Given the description of an element on the screen output the (x, y) to click on. 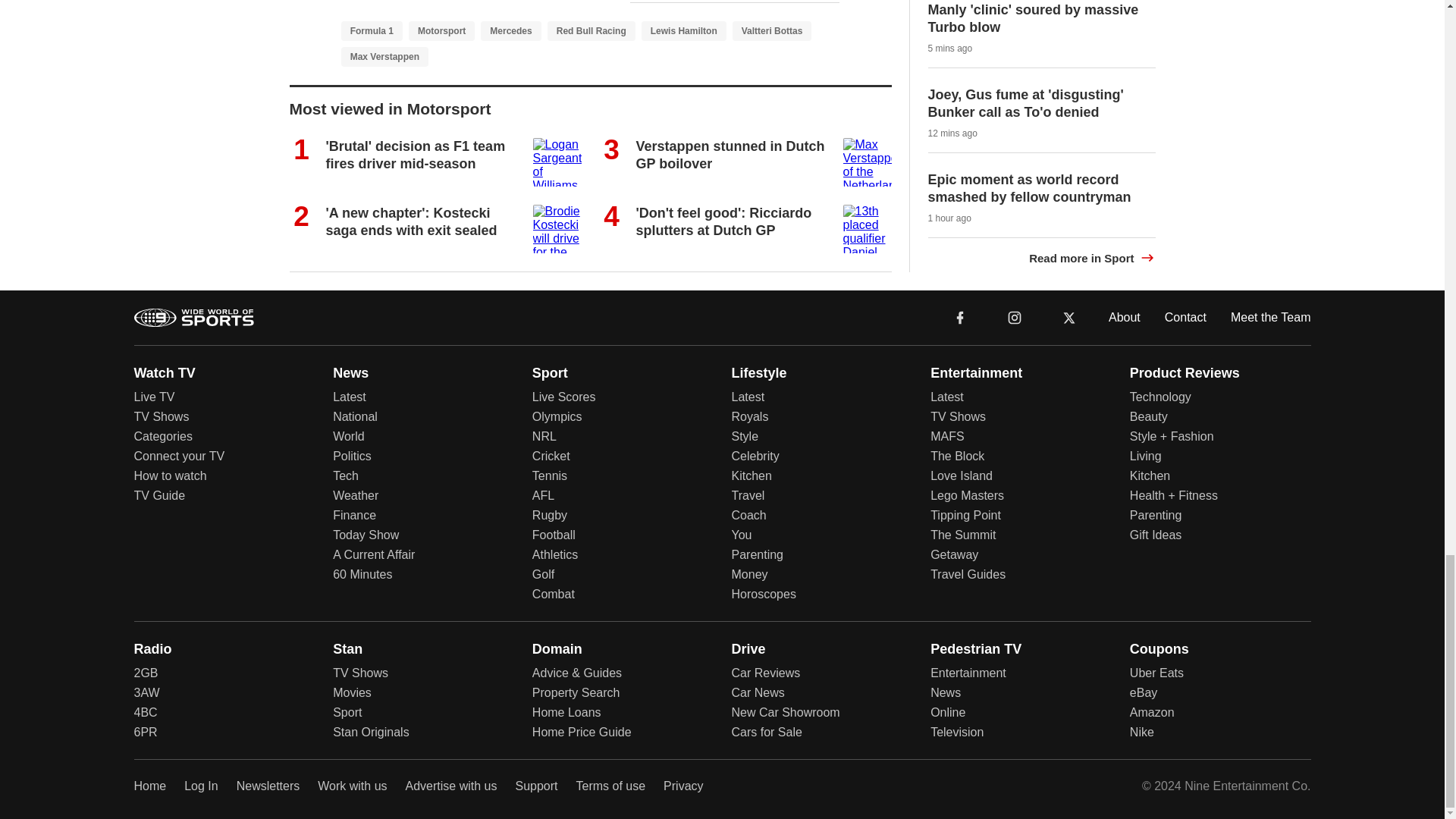
facebook (960, 316)
instagram (1014, 316)
instagram (1013, 316)
facebook (959, 316)
Formula 1 (371, 30)
x (1069, 316)
Motorsport (441, 30)
x (1069, 316)
